Given the description of an element on the screen output the (x, y) to click on. 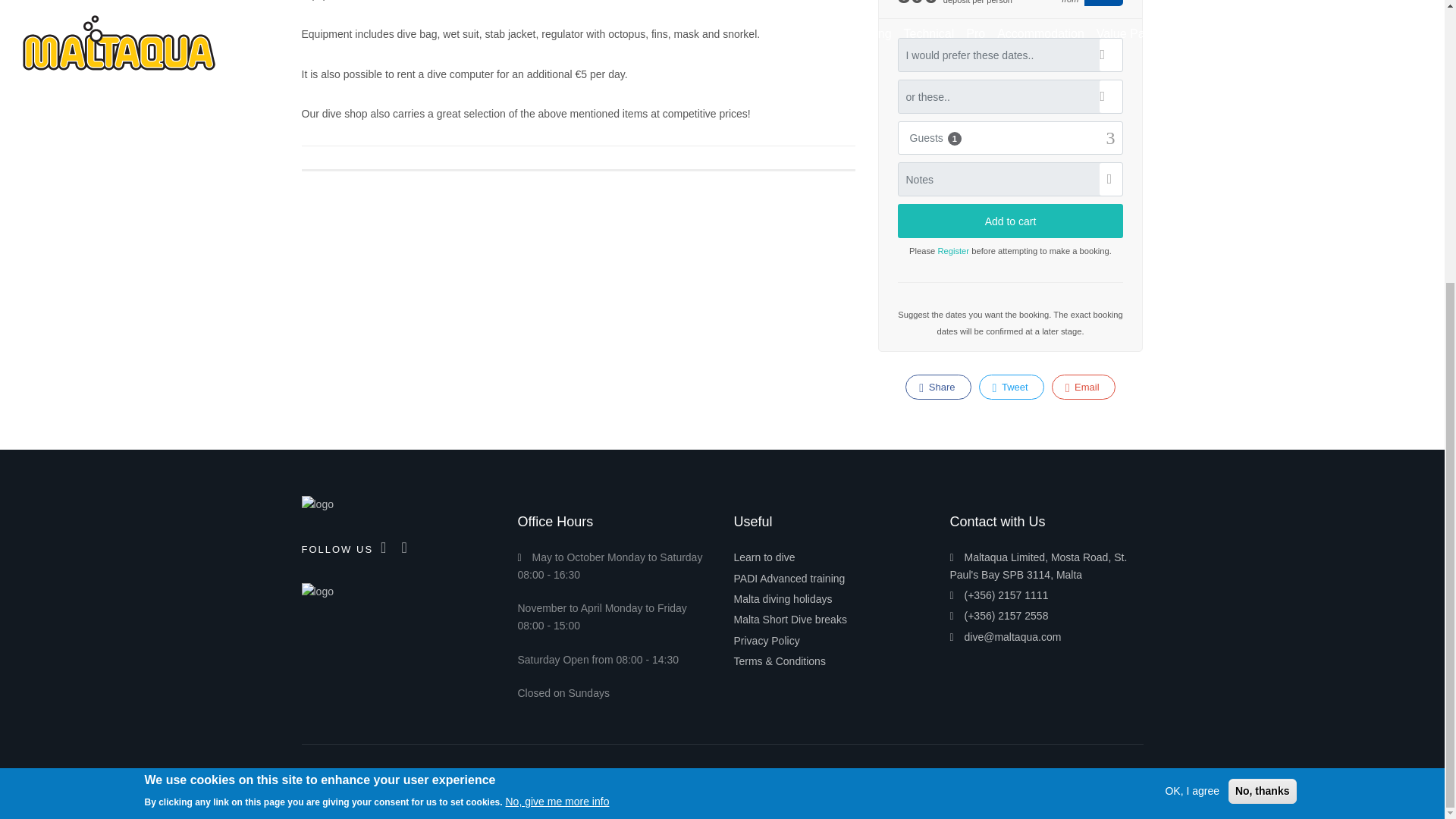
Add to cart (1011, 220)
